Given the description of an element on the screen output the (x, y) to click on. 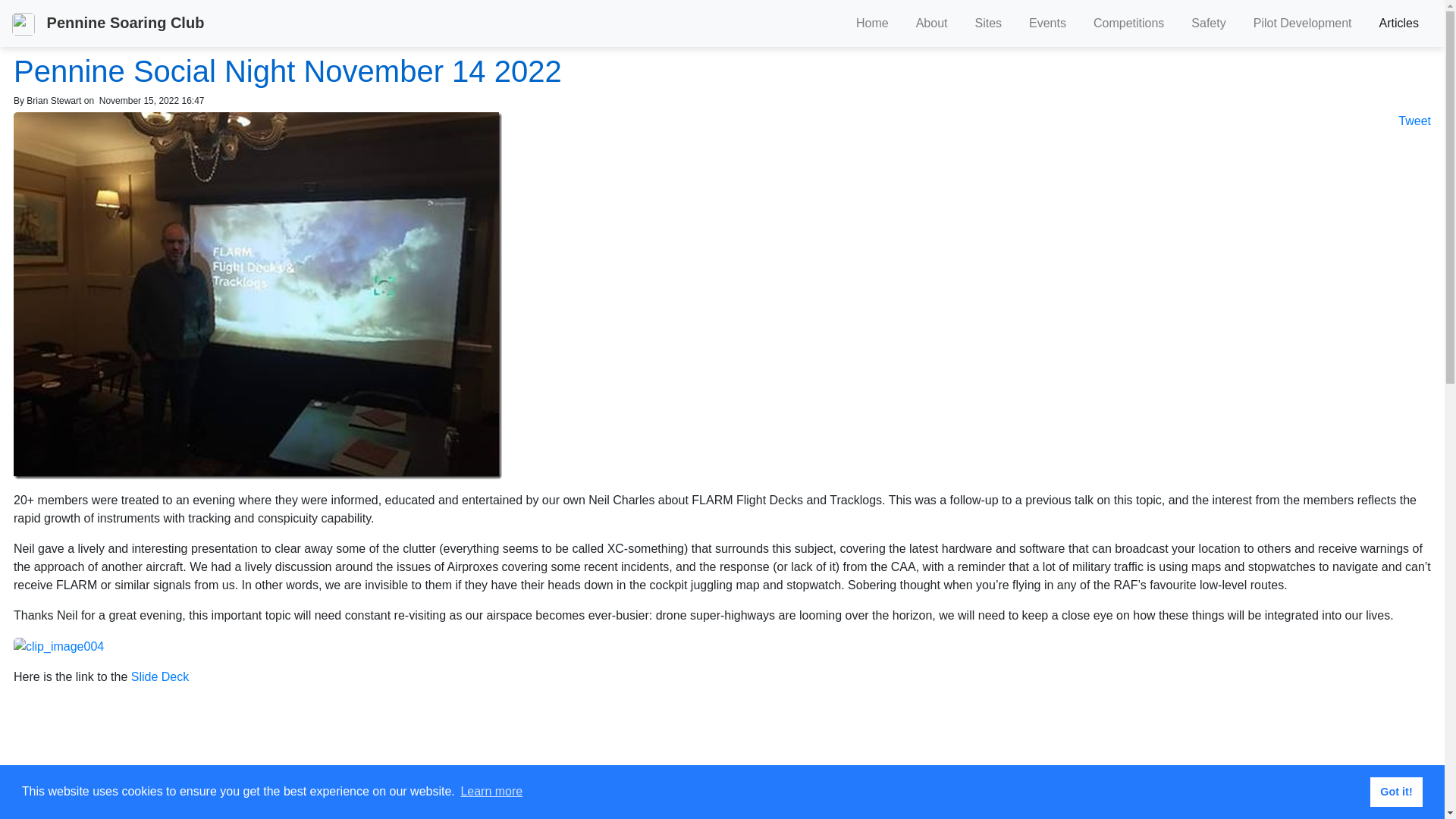
Competitions Element type: text (1128, 23)
Pennine Soaring Club Element type: text (107, 23)
Pilot Development Element type: text (1302, 23)
Home Element type: text (872, 23)
clip_image002 Element type: hover (257, 295)
Articles Element type: text (1398, 23)
Safety Element type: text (1208, 23)
Tweet Element type: text (1414, 120)
Learn more Element type: text (491, 791)
Got it! Element type: text (1396, 791)
Events Element type: text (1047, 23)
Pennine Social Night November 14 2022 Element type: text (287, 70)
About Element type: text (931, 23)
Sites Element type: text (987, 23)
Slide Deck Element type: text (159, 676)
clip_image004 Element type: hover (58, 646)
